Given the description of an element on the screen output the (x, y) to click on. 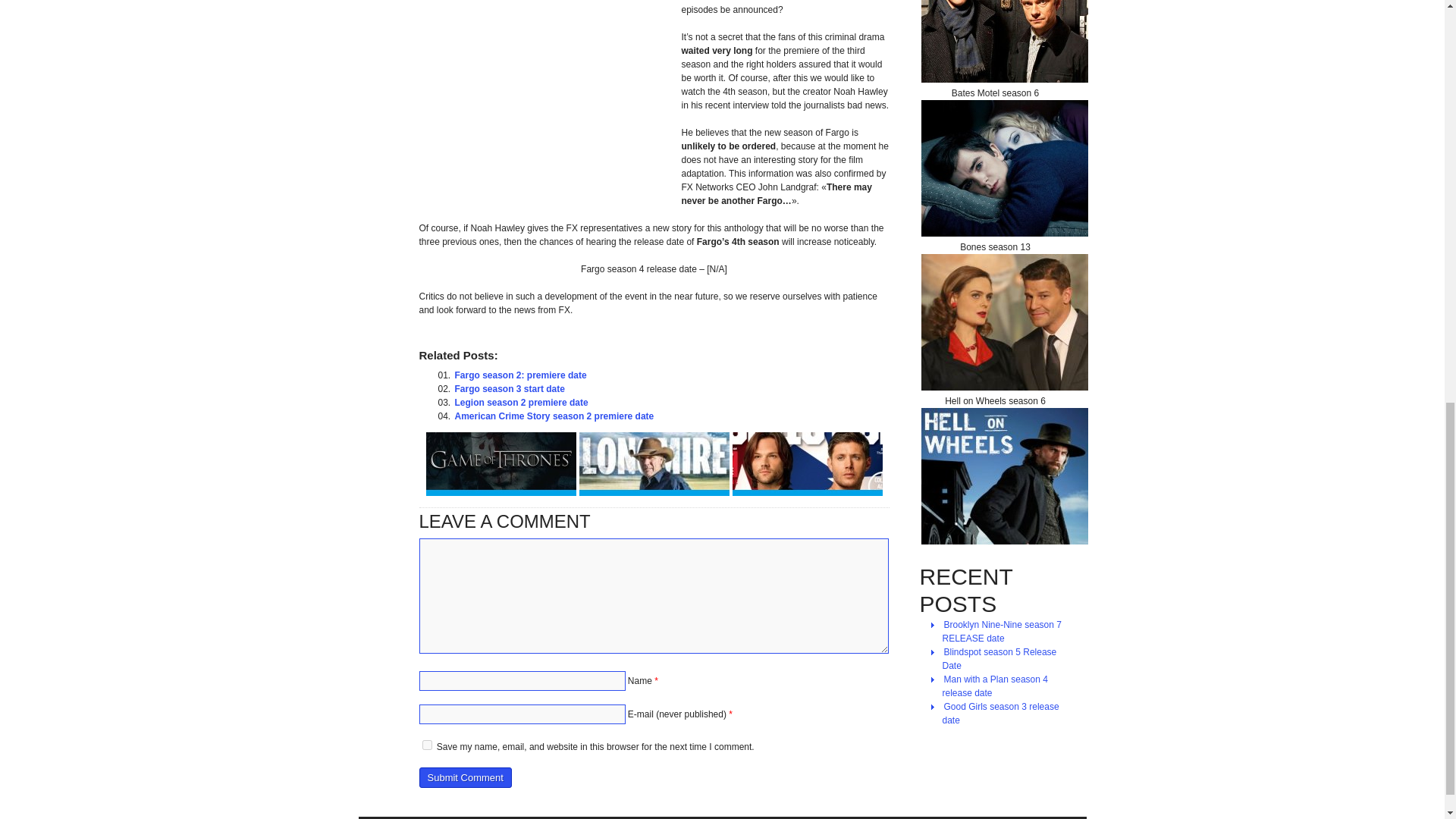
Man with a Plan season 4 release date (994, 686)
Brooklyn Nine-Nine season 7 RELEASE date (1001, 631)
American Crime Story season 2 premiere date (554, 416)
Fargo season 3 start date (509, 388)
Submit Comment (465, 777)
Fargo season 2: premiere date (520, 375)
Legion season 2 premiere date (520, 402)
Good Girls season 3 release date (1000, 713)
Fargo season 3 start date (509, 388)
Submit Comment (465, 777)
American Crime Story season 2 premiere date (554, 416)
Blindspot season 5 Release Date (999, 658)
Advertisement (545, 97)
Fargo season 2: premiere date (520, 375)
yes (426, 745)
